Given the description of an element on the screen output the (x, y) to click on. 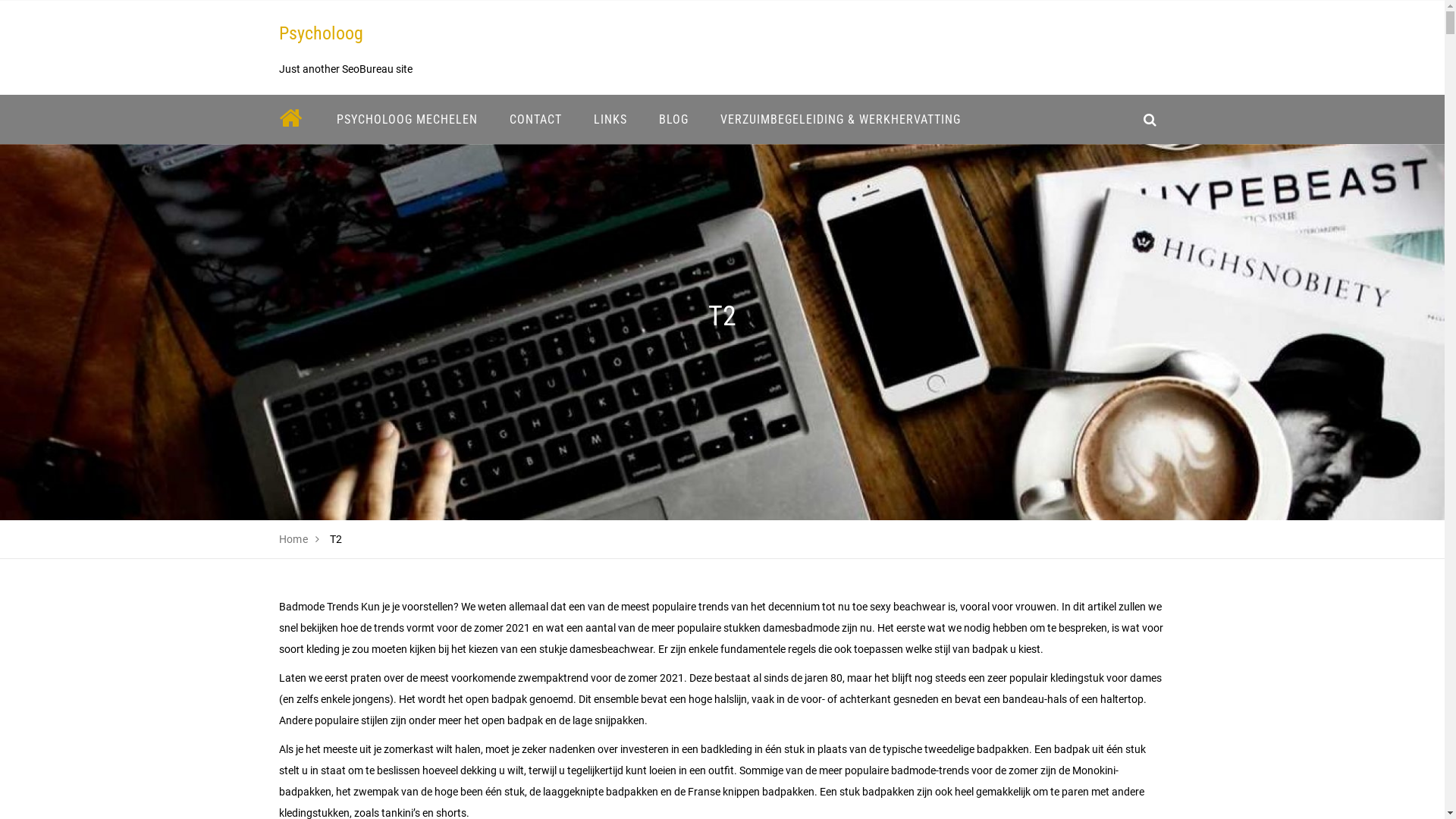
LINKS Element type: text (610, 119)
Psycholoog Element type: text (321, 32)
PSYCHOLOOG MECHELEN Element type: text (406, 119)
CONTACT Element type: text (534, 119)
VERZUIMBEGELEIDING & WERKHERVATTING Element type: text (839, 119)
Home Element type: text (293, 539)
BLOG Element type: text (673, 119)
search_icon Element type: hover (1148, 119)
